Given the description of an element on the screen output the (x, y) to click on. 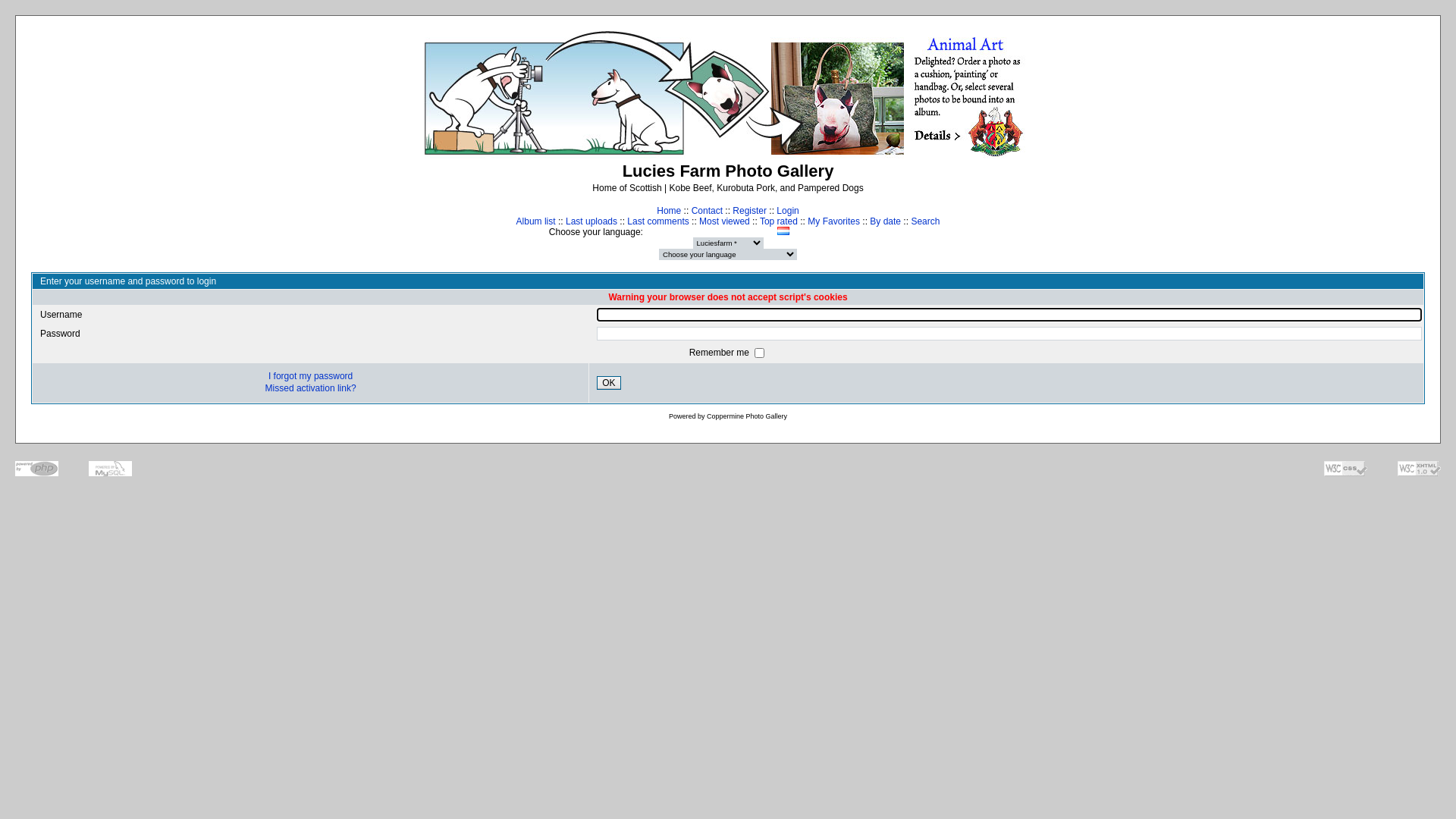
Contact Element type: text (706, 210)
Home Element type: text (668, 210)
Last uploads Element type: text (591, 221)
My Favorites Element type: text (833, 221)
Search Element type: text (924, 221)
Dutch / Nederlands Element type: hover (695, 230)
Register Element type: text (749, 210)
Polish / Polski Element type: hover (798, 230)
English / English (US) Element type: hover (710, 230)
I forgot my password Element type: text (310, 375)
Top rated Element type: text (778, 221)
Album list Element type: text (535, 221)
Missed activation link? Element type: text (310, 387)
OK Element type: text (608, 382)
German / Deutsch (Du) Element type: hover (754, 230)
Default language Element type: hover (900, 230)
Login Element type: text (787, 210)
Coppermine Photo Gallery Element type: text (746, 416)
Finnish / Suomi Element type: hover (724, 230)
Most viewed Element type: text (724, 221)
By date Element type: text (884, 221)
Last comments Element type: text (657, 221)
